Given the description of an element on the screen output the (x, y) to click on. 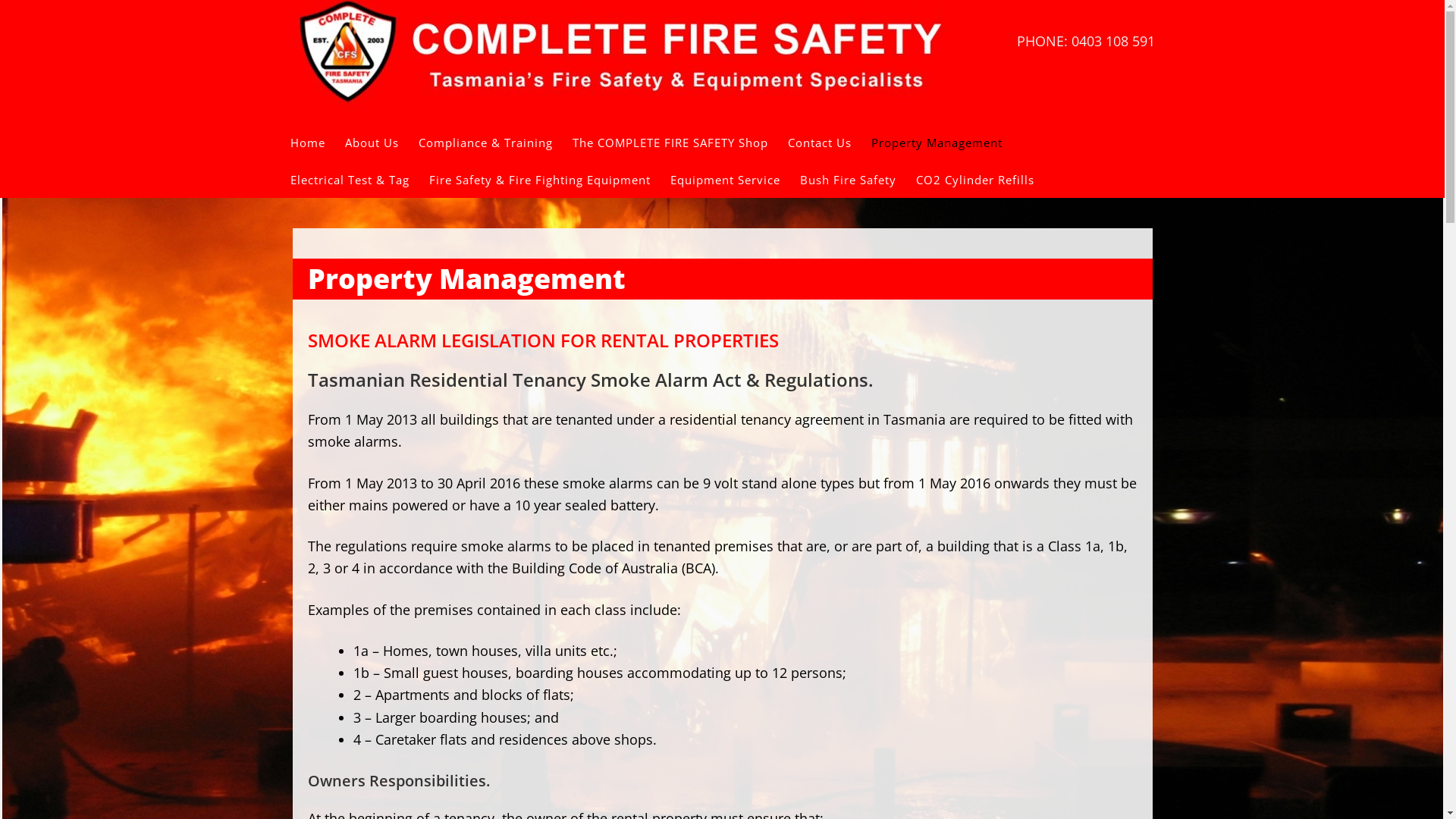
Compliance & Training Element type: text (495, 142)
Contact Us Element type: text (828, 142)
COMPLETE FIRE SAFETY Element type: text (619, 62)
Home Element type: text (316, 142)
CO2 Cylinder Refills Element type: text (985, 178)
Fire Safety & Fire Fighting Equipment Element type: text (549, 178)
Property Management Element type: text (945, 142)
Bush Fire Safety Element type: text (857, 178)
About Us Element type: text (380, 142)
Equipment Service Element type: text (735, 178)
The COMPLETE FIRE SAFETY Shop Element type: text (679, 142)
Electrical Test & Tag Element type: text (358, 178)
